Given the description of an element on the screen output the (x, y) to click on. 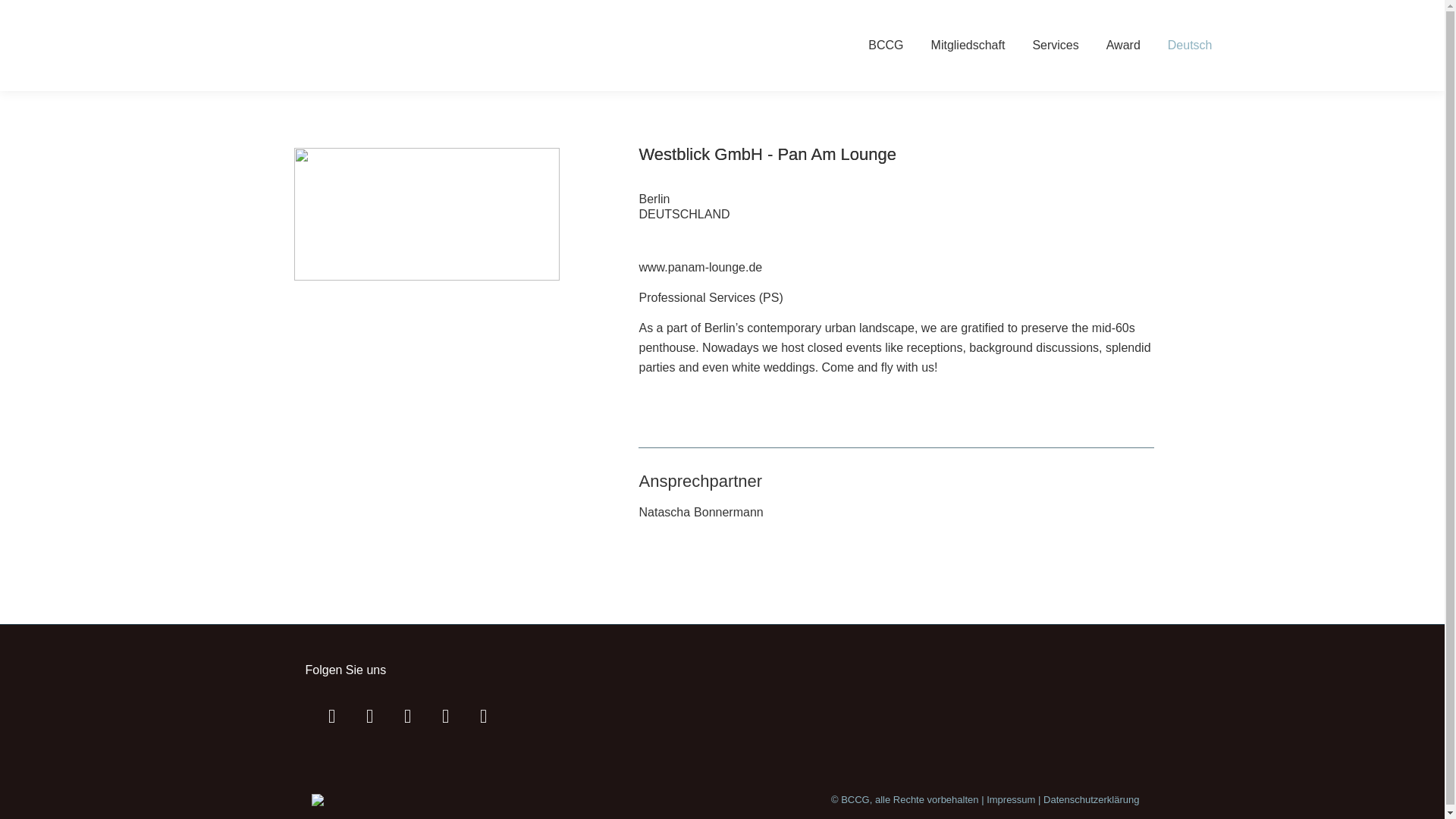
Impressum (1011, 799)
Mitgliedschaft (968, 44)
